Given the description of an element on the screen output the (x, y) to click on. 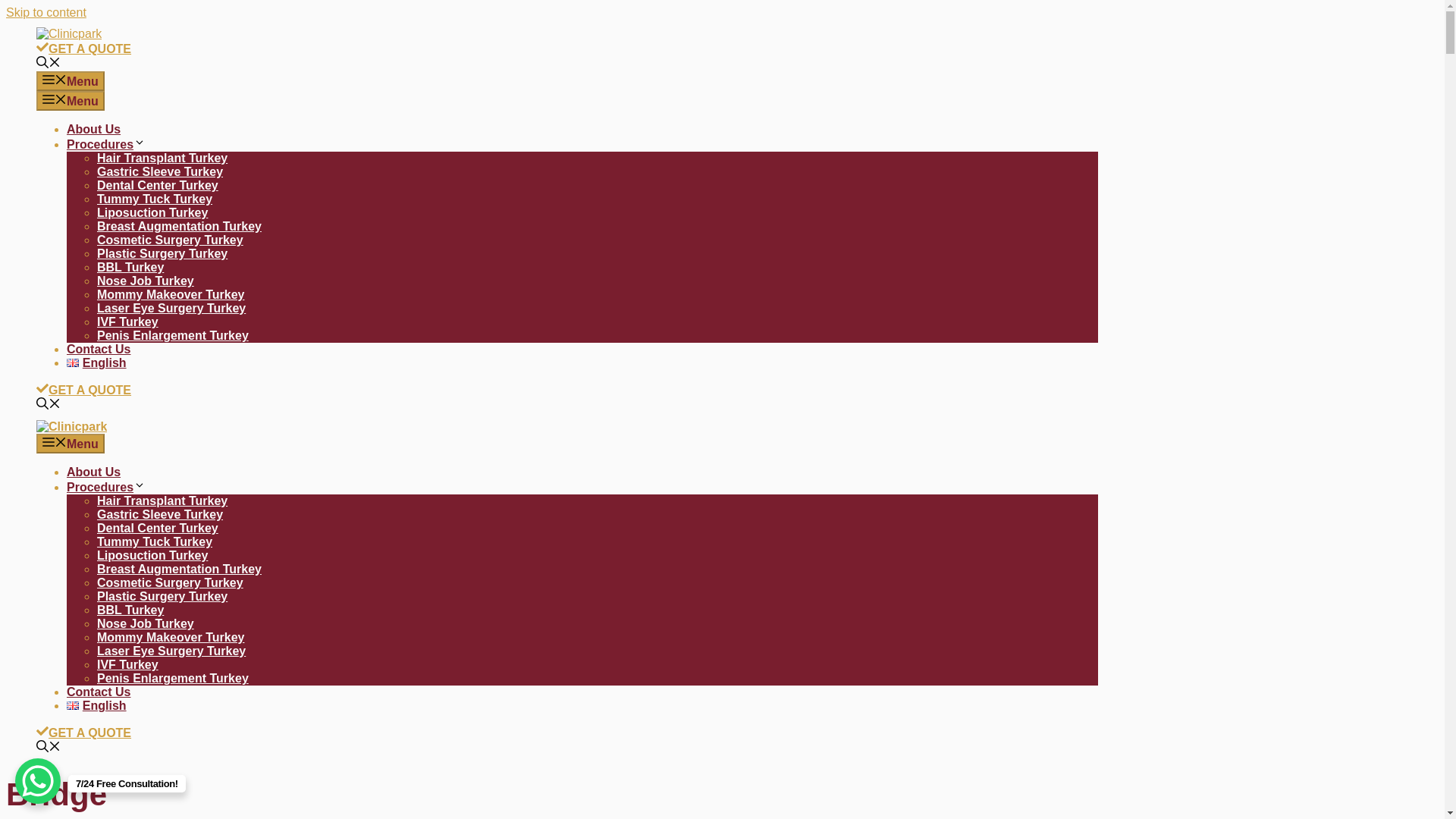
Clinicpark (71, 426)
About Us (93, 472)
Skip to content (45, 11)
Nose Job Turkey (145, 280)
BBL Turkey (130, 267)
Tummy Tuck Turkey (154, 541)
Laser Eye Surgery Turkey (171, 308)
BBL Turkey (130, 609)
Plastic Surgery Turkey (162, 253)
Menu (70, 100)
